Given the description of an element on the screen output the (x, y) to click on. 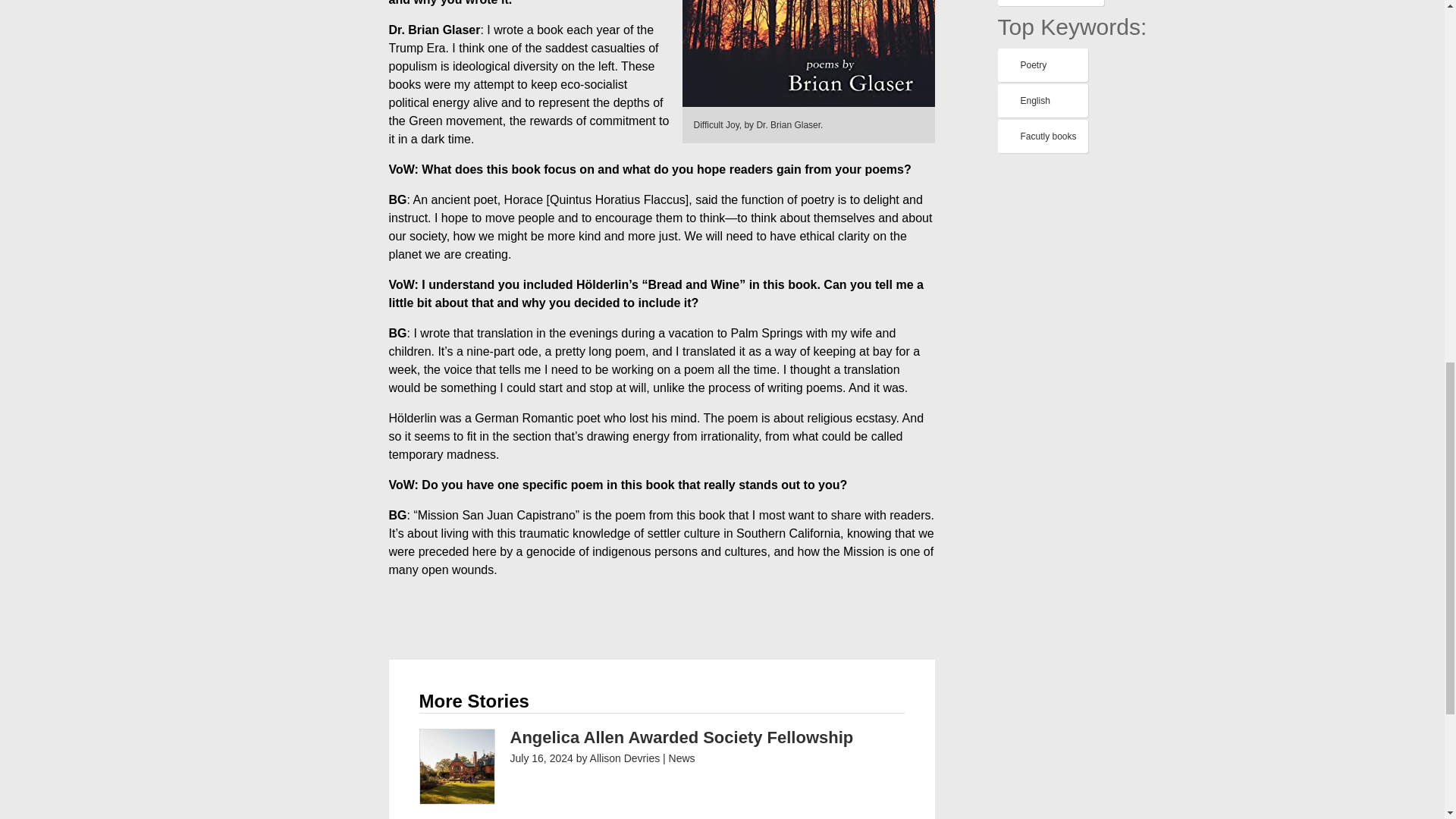
Poetry (1042, 64)
English (1042, 100)
Facutly books (1042, 136)
Posts by Allison Devries (625, 758)
Wilkinson College (1050, 2)
